Given the description of an element on the screen output the (x, y) to click on. 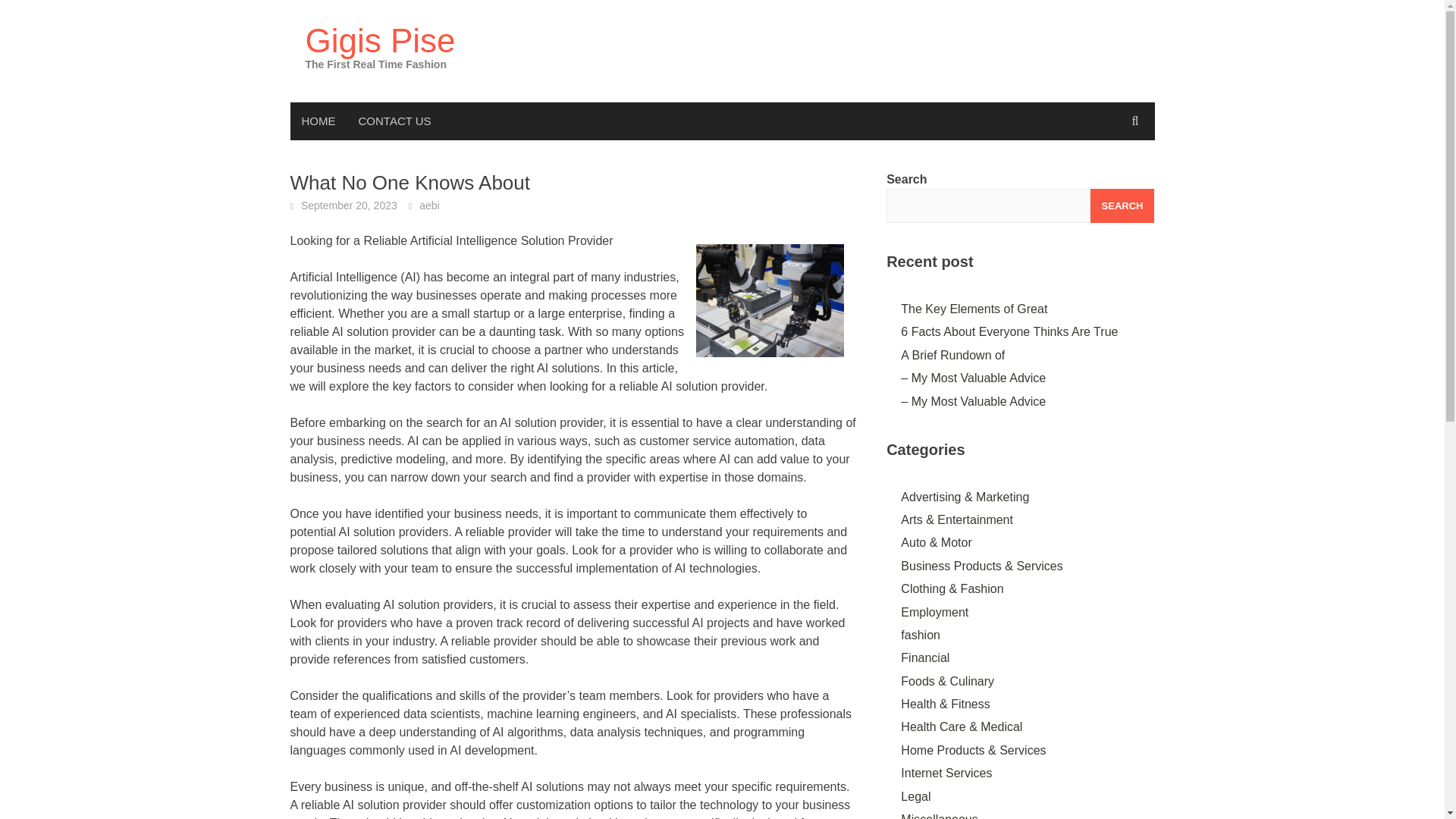
Internet Services (946, 772)
Employment (934, 612)
6 Facts About Everyone Thinks Are True (1009, 331)
Financial (925, 657)
Miscellaneous (938, 816)
aebi (429, 205)
Legal (915, 796)
A Brief Rundown of (952, 354)
September 20, 2023 (349, 205)
SEARCH (1122, 205)
fashion (920, 634)
CONTACT US (394, 121)
HOME (317, 121)
Gigis Pise (379, 40)
The Key Elements of Great (973, 308)
